Given the description of an element on the screen output the (x, y) to click on. 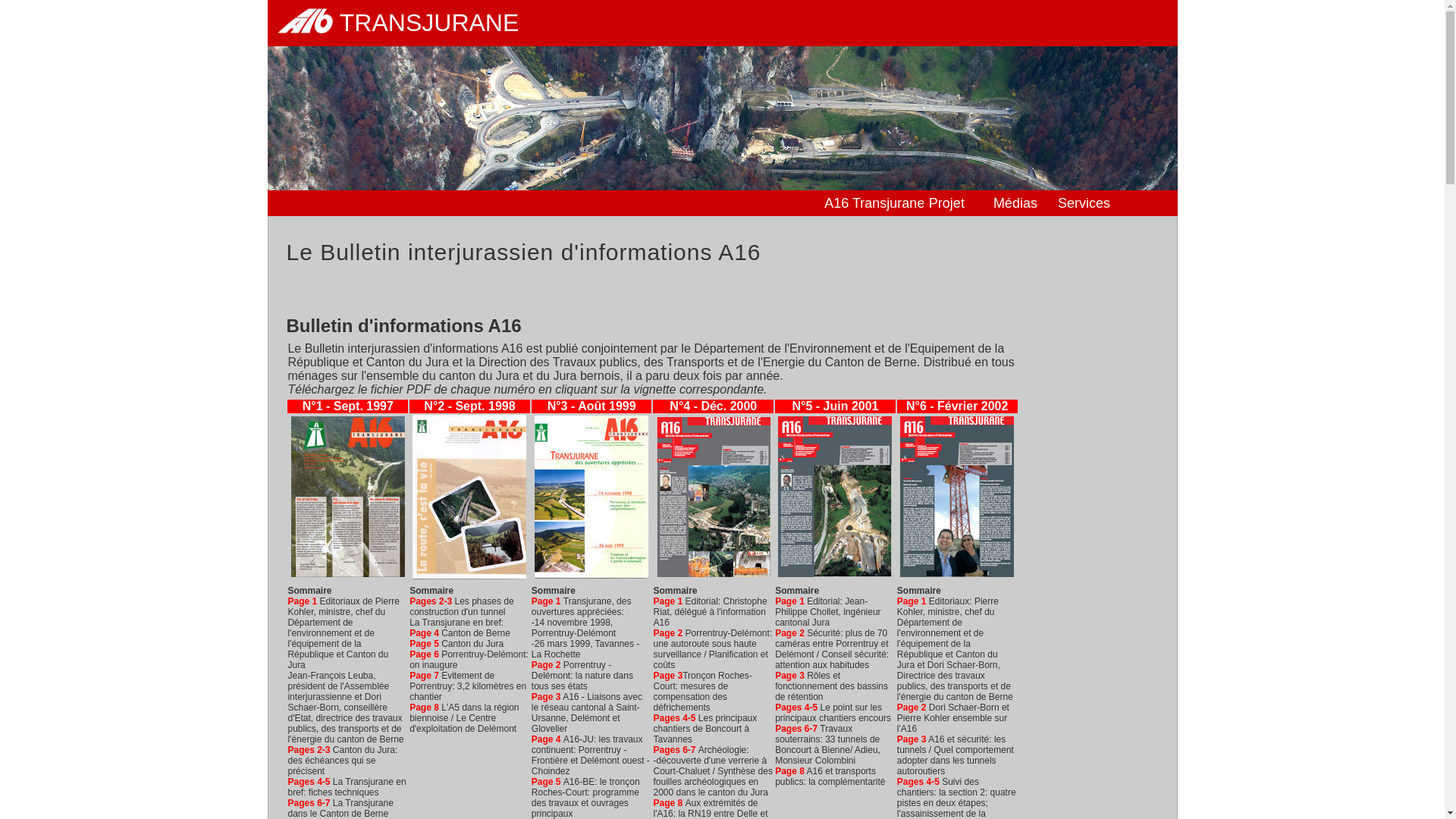
Projet Element type: text (958, 204)
Services Element type: text (1087, 204)
A16 Transjurane  Element type: text (867, 204)
TRANSJURANE Element type: text (721, 23)
